Given the description of an element on the screen output the (x, y) to click on. 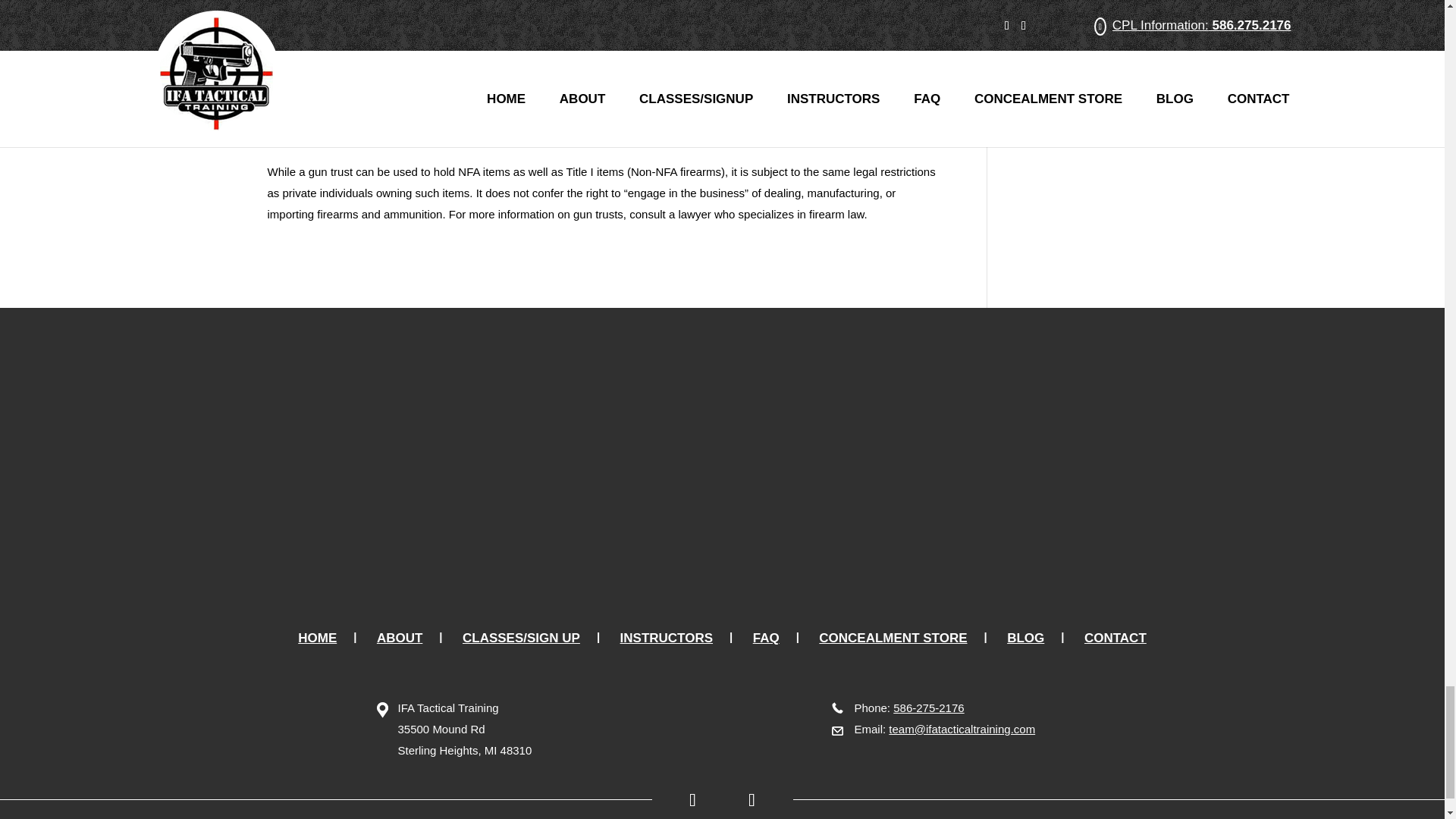
Follow on Facebook (686, 800)
Follow on Instagram (757, 800)
